Given the description of an element on the screen output the (x, y) to click on. 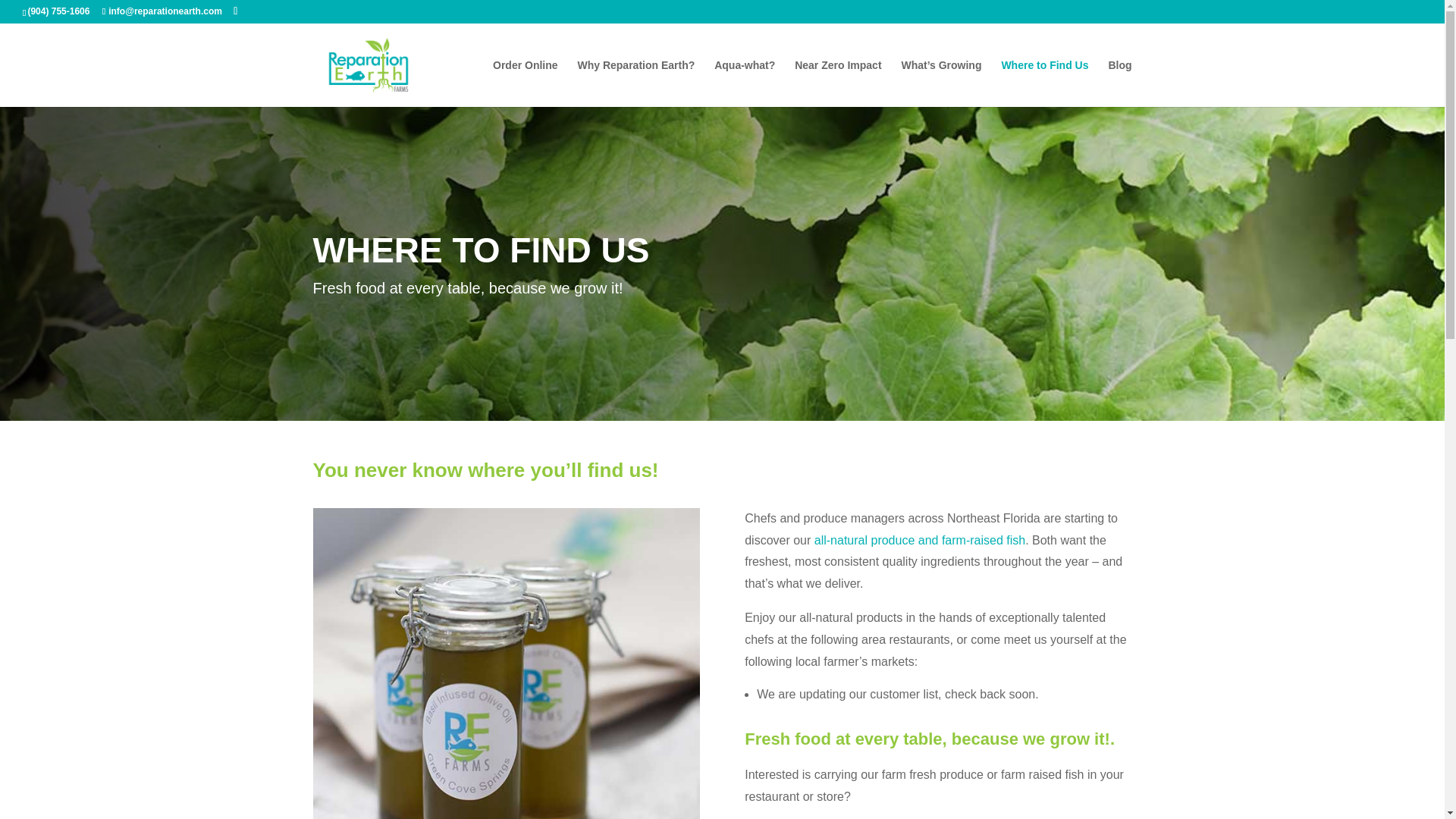
Near Zero Impact (837, 83)
Order Online (525, 83)
all-natural produce and farm-raised fish (919, 540)
Why Reparation Earth? (635, 83)
Where to Find Us (1044, 83)
Aqua-what? (744, 83)
